Given the description of an element on the screen output the (x, y) to click on. 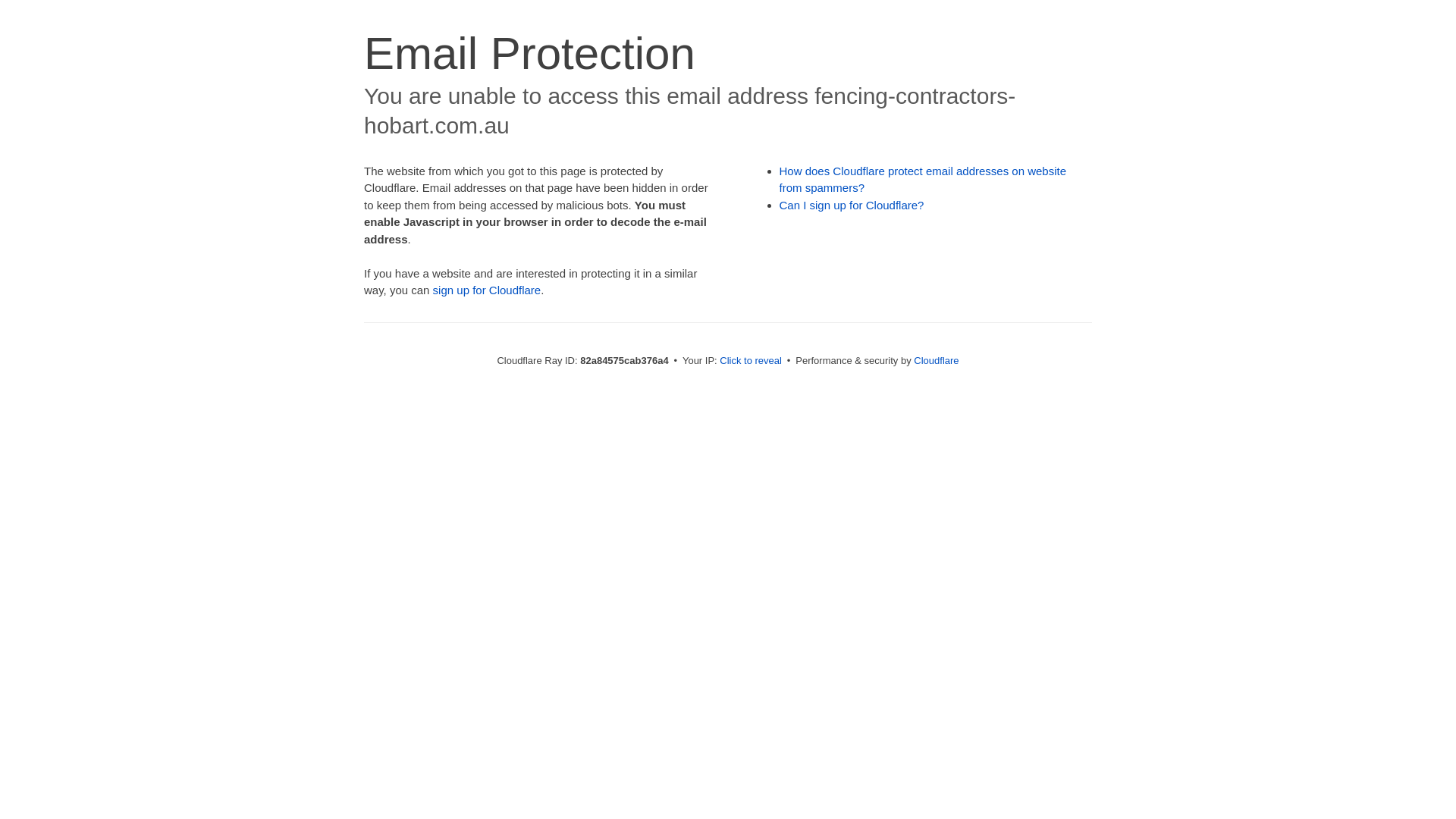
Cloudflare Element type: text (935, 360)
Click to reveal Element type: text (750, 360)
Can I sign up for Cloudflare? Element type: text (851, 204)
sign up for Cloudflare Element type: text (487, 289)
